Given the description of an element on the screen output the (x, y) to click on. 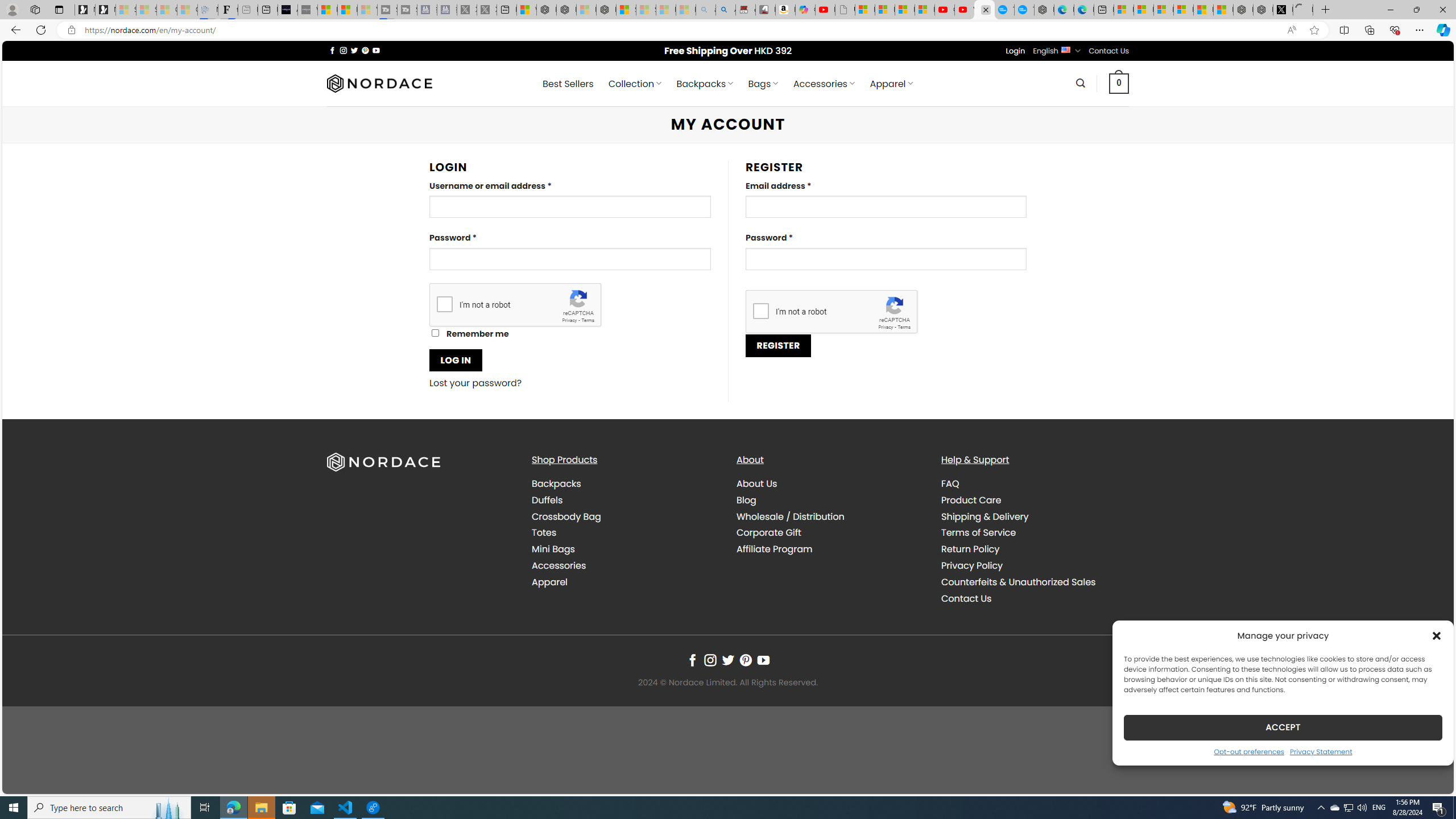
Corporate Gift (768, 532)
Blog (830, 499)
English (1065, 49)
Apparel (625, 581)
Follow on Twitter (727, 659)
